Given the description of an element on the screen output the (x, y) to click on. 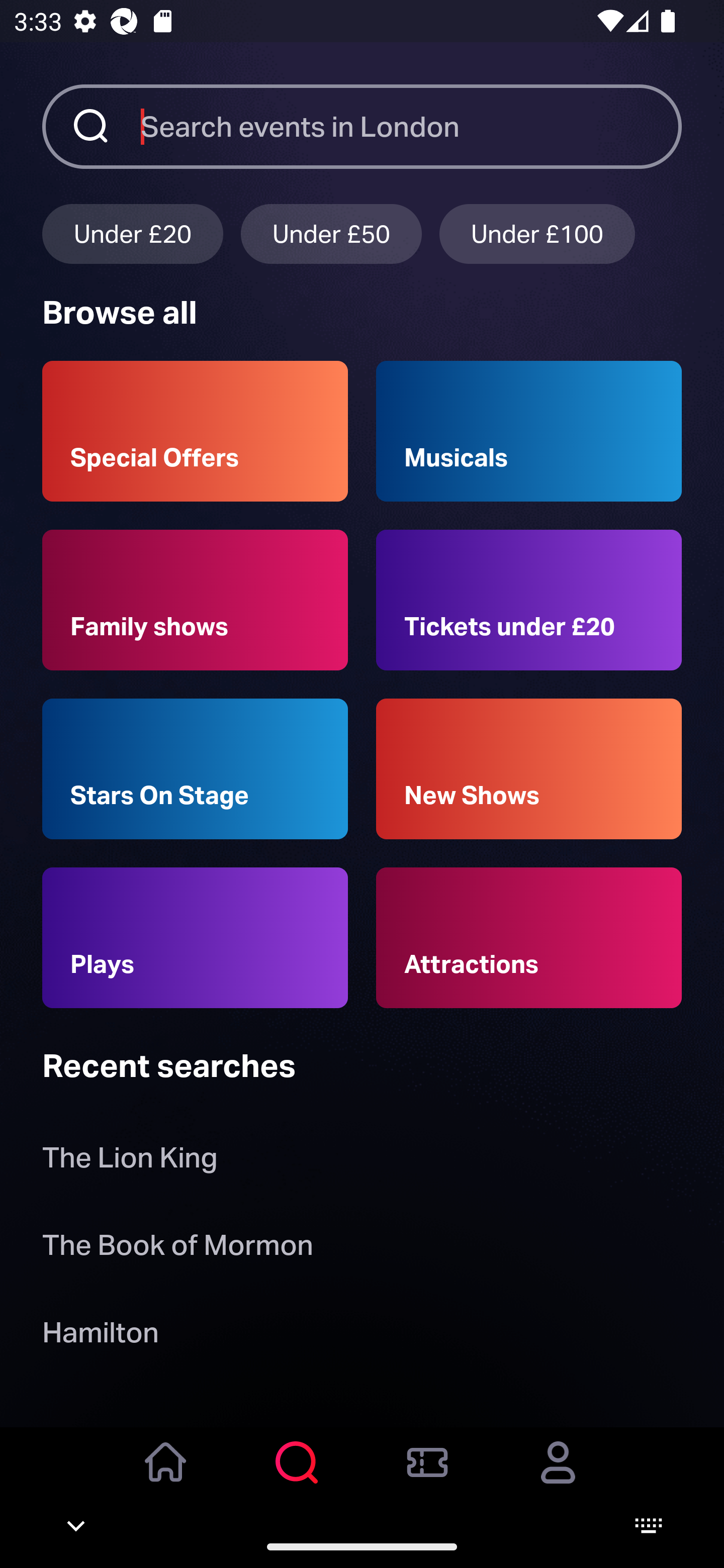
Search events in London (411, 126)
Under £20 (131, 233)
Under £50 (331, 233)
Under £100 (536, 233)
Special Offers (194, 430)
Musicals (528, 430)
Family shows (194, 600)
Tickets under £20  (528, 600)
Stars On Stage (194, 768)
New Shows (528, 768)
Plays (194, 937)
Attractions  (528, 937)
The Lion King (129, 1161)
The Book of Mormon (177, 1248)
Hamilton (99, 1335)
Home (165, 1475)
Orders (427, 1475)
Account (558, 1475)
